Given the description of an element on the screen output the (x, y) to click on. 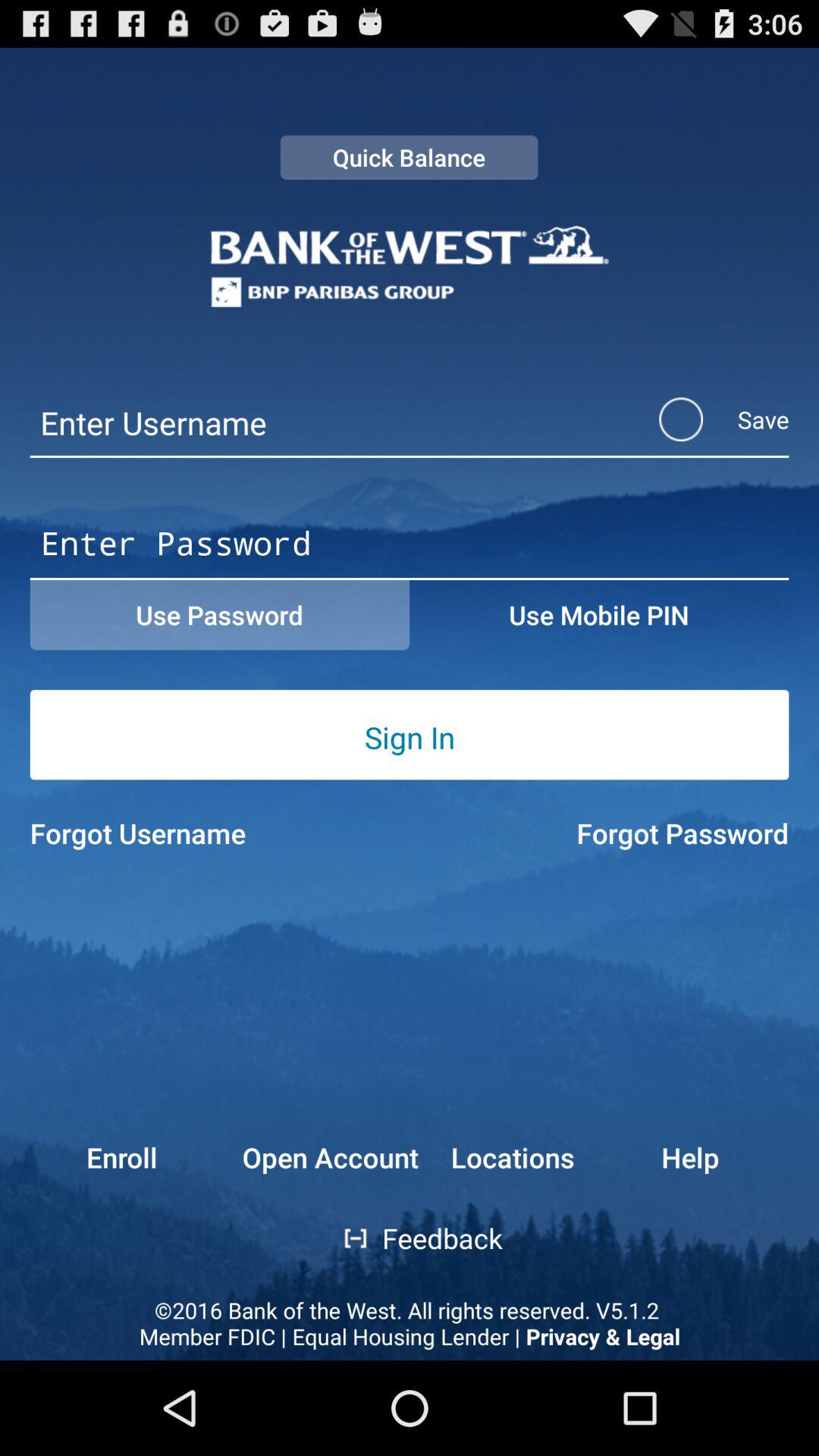
turn off item at the bottom left corner (93, 1157)
